Given the description of an element on the screen output the (x, y) to click on. 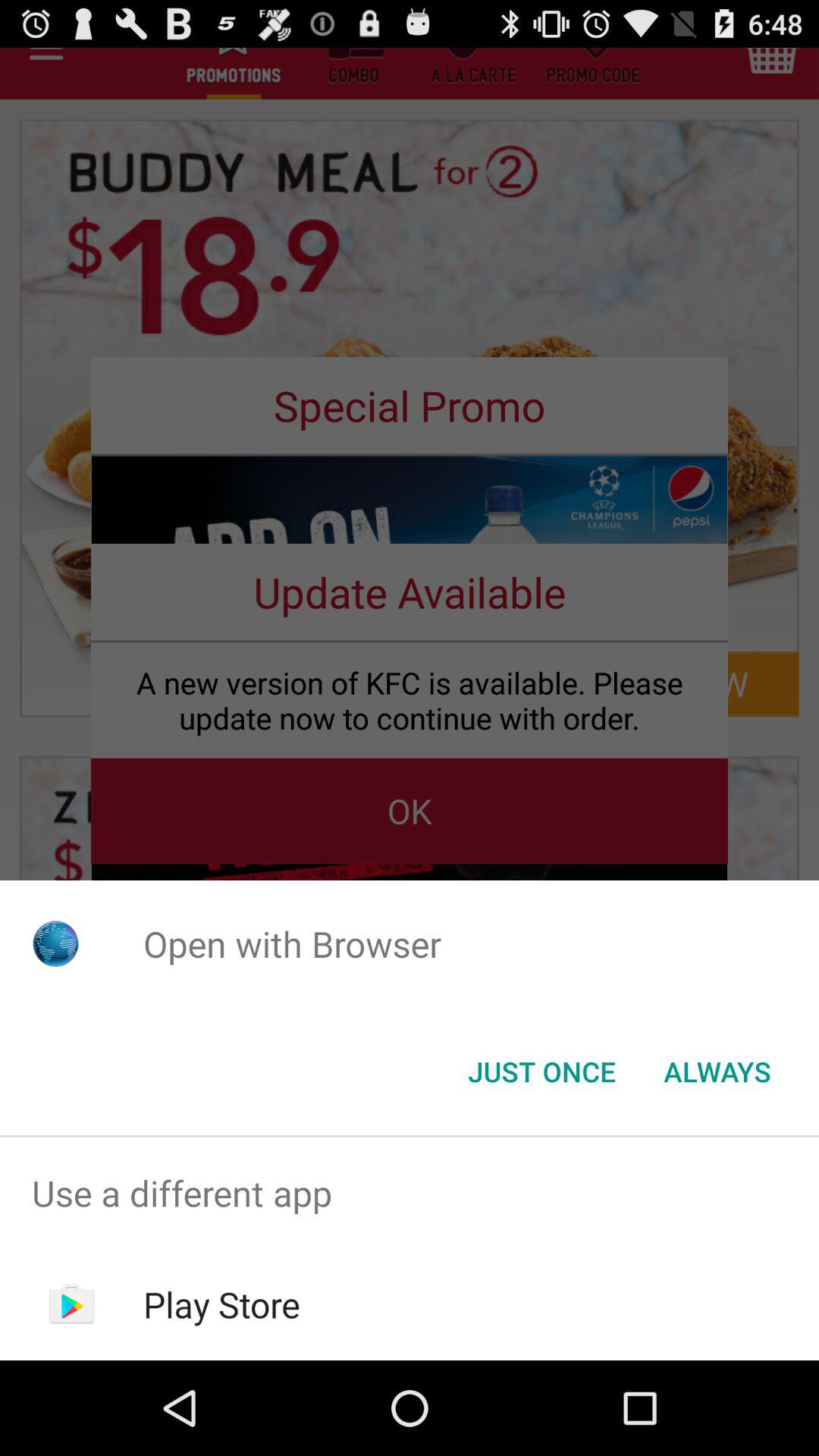
turn off item below the use a different (221, 1304)
